Given the description of an element on the screen output the (x, y) to click on. 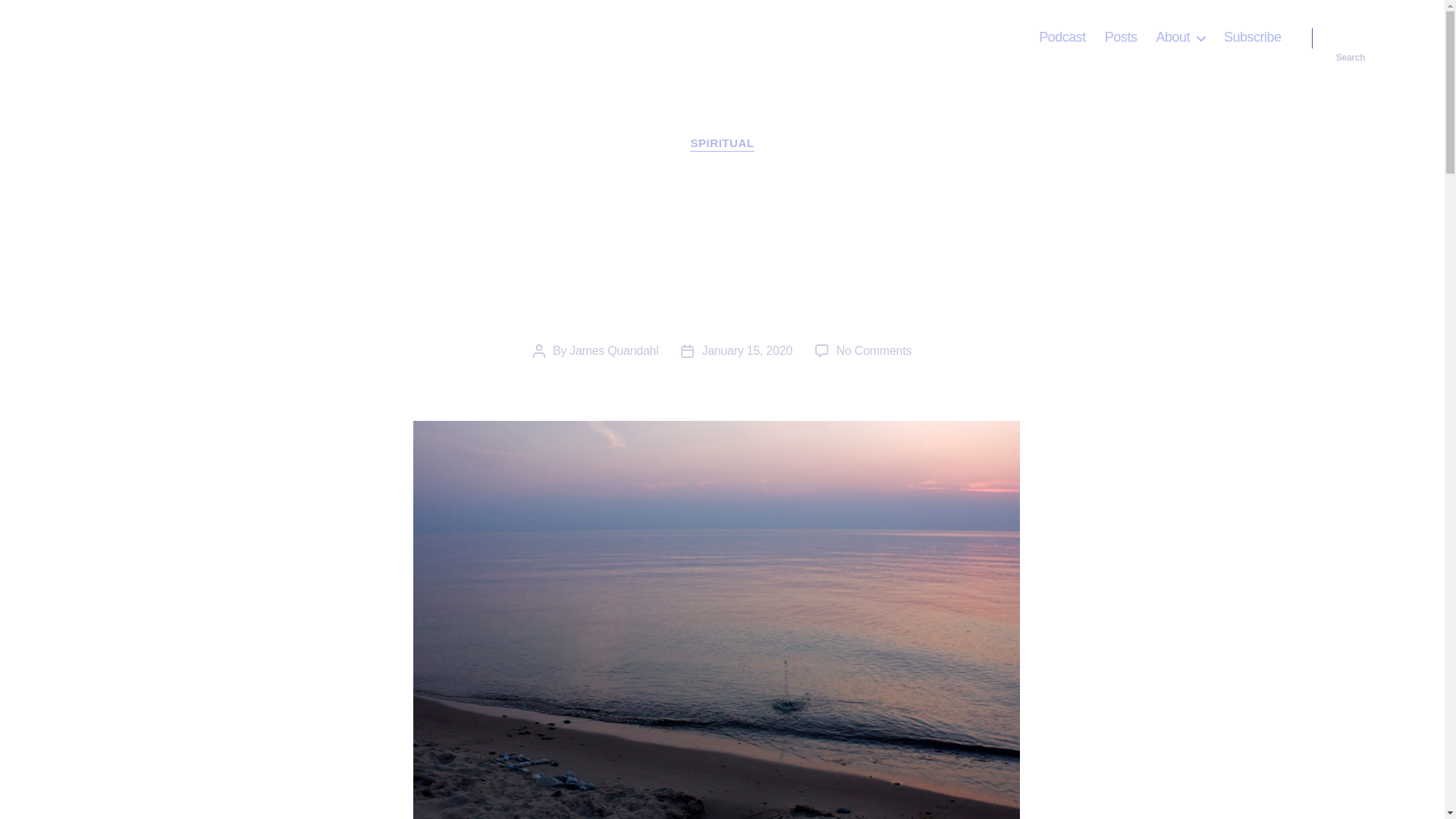
James Quandahl (151, 37)
January 15, 2020 (746, 350)
SPIRITUAL (722, 143)
Search (1350, 37)
About (1180, 37)
Posts (1121, 37)
Subscribe (1252, 37)
James Quandahl (613, 350)
Podcast (1062, 37)
